Given the description of an element on the screen output the (x, y) to click on. 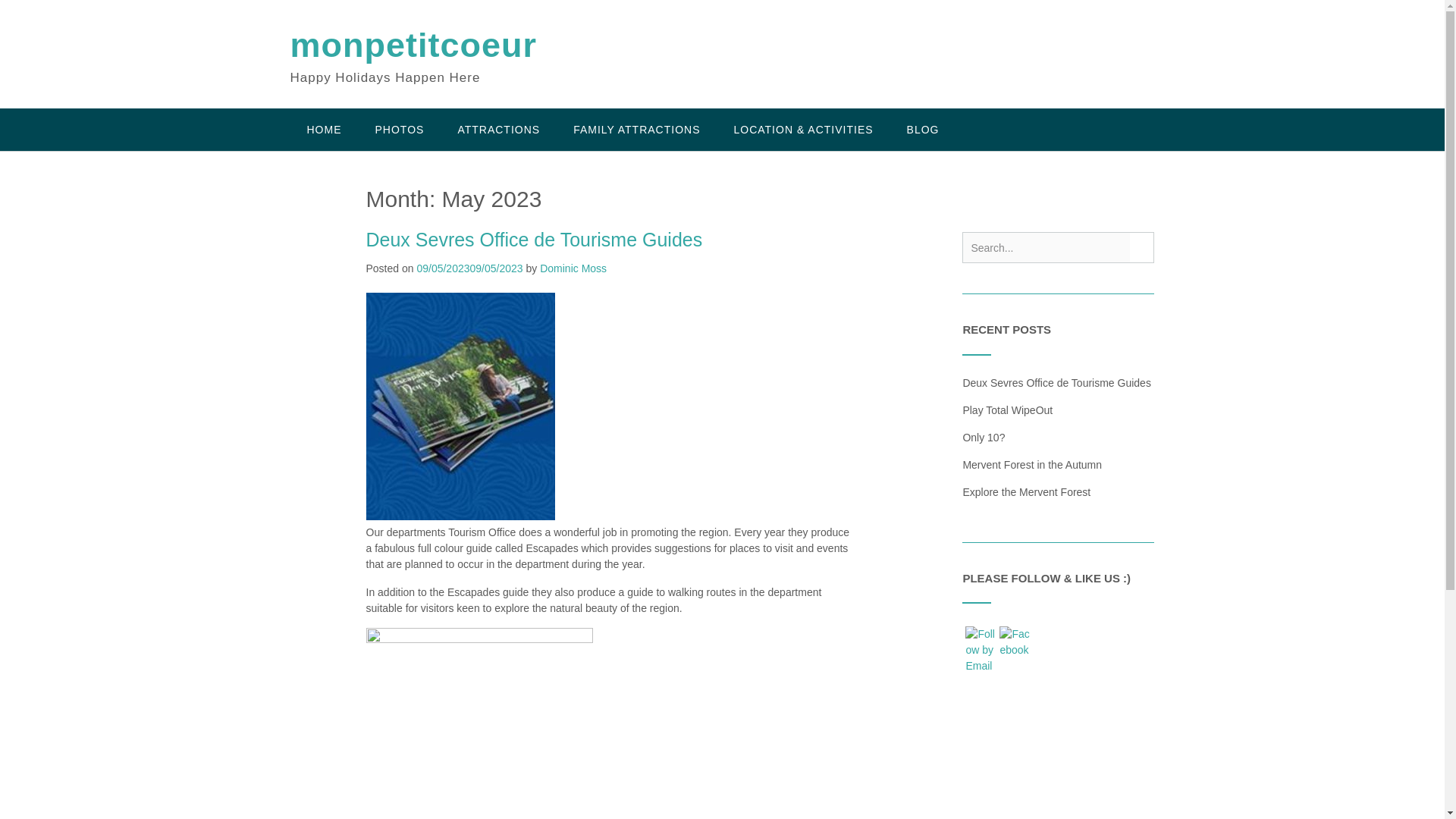
ATTRACTIONS (498, 129)
FAMILY ATTRACTIONS (636, 129)
Facebook (1013, 642)
Search for: (1045, 246)
PHOTOS (399, 129)
HOME (323, 129)
monpetitcoeur (413, 45)
monpetitcoeur (413, 45)
